Given the description of an element on the screen output the (x, y) to click on. 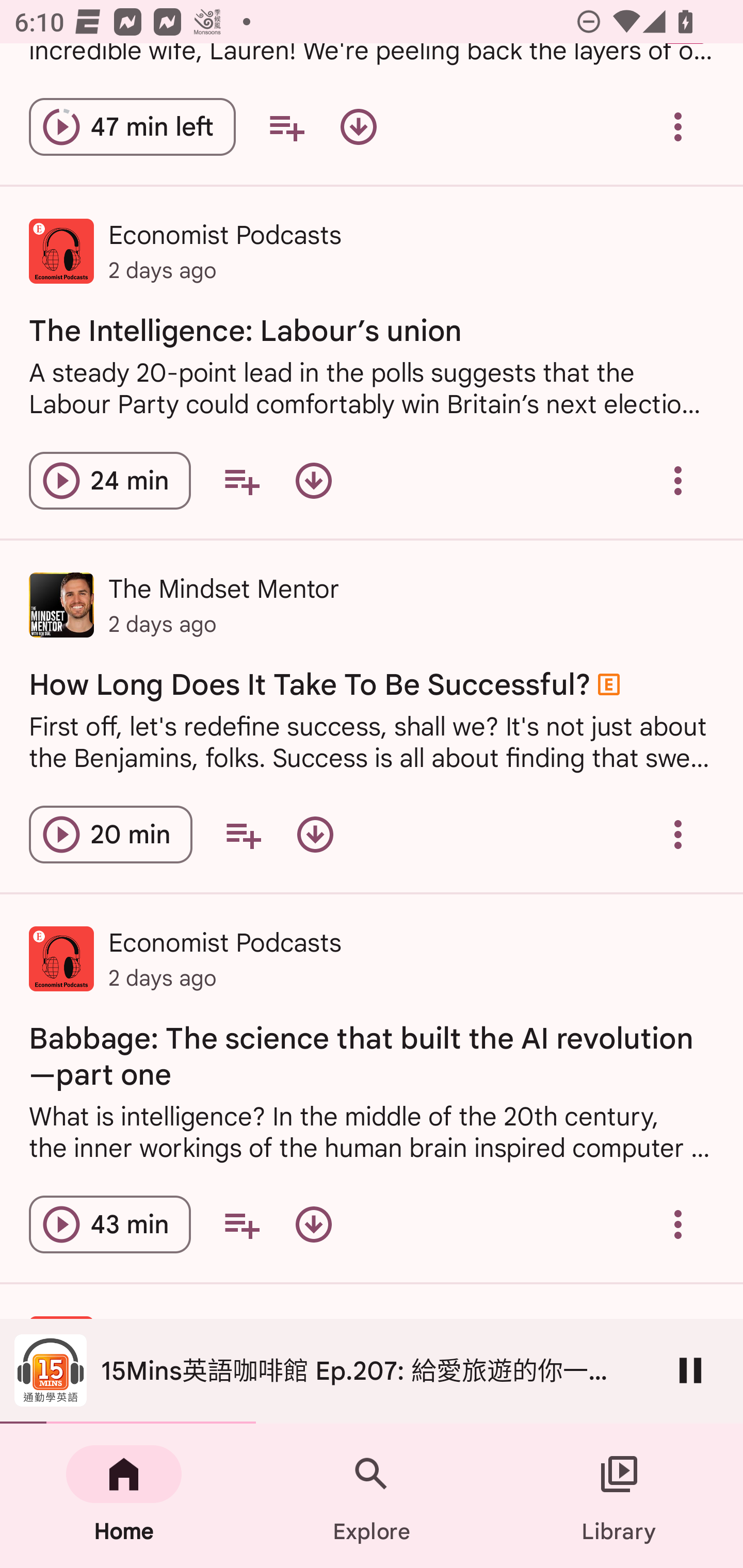
Play episode Meet My Wife 47 min left (131, 126)
Add to your queue (286, 126)
Download episode (358, 126)
Overflow menu (677, 126)
Add to your queue (241, 480)
Download episode (313, 480)
Overflow menu (677, 480)
Add to your queue (242, 834)
Download episode (315, 834)
Overflow menu (677, 834)
Add to your queue (241, 1224)
Download episode (313, 1224)
Overflow menu (677, 1224)
Pause (690, 1370)
Explore (371, 1495)
Library (619, 1495)
